Given the description of an element on the screen output the (x, y) to click on. 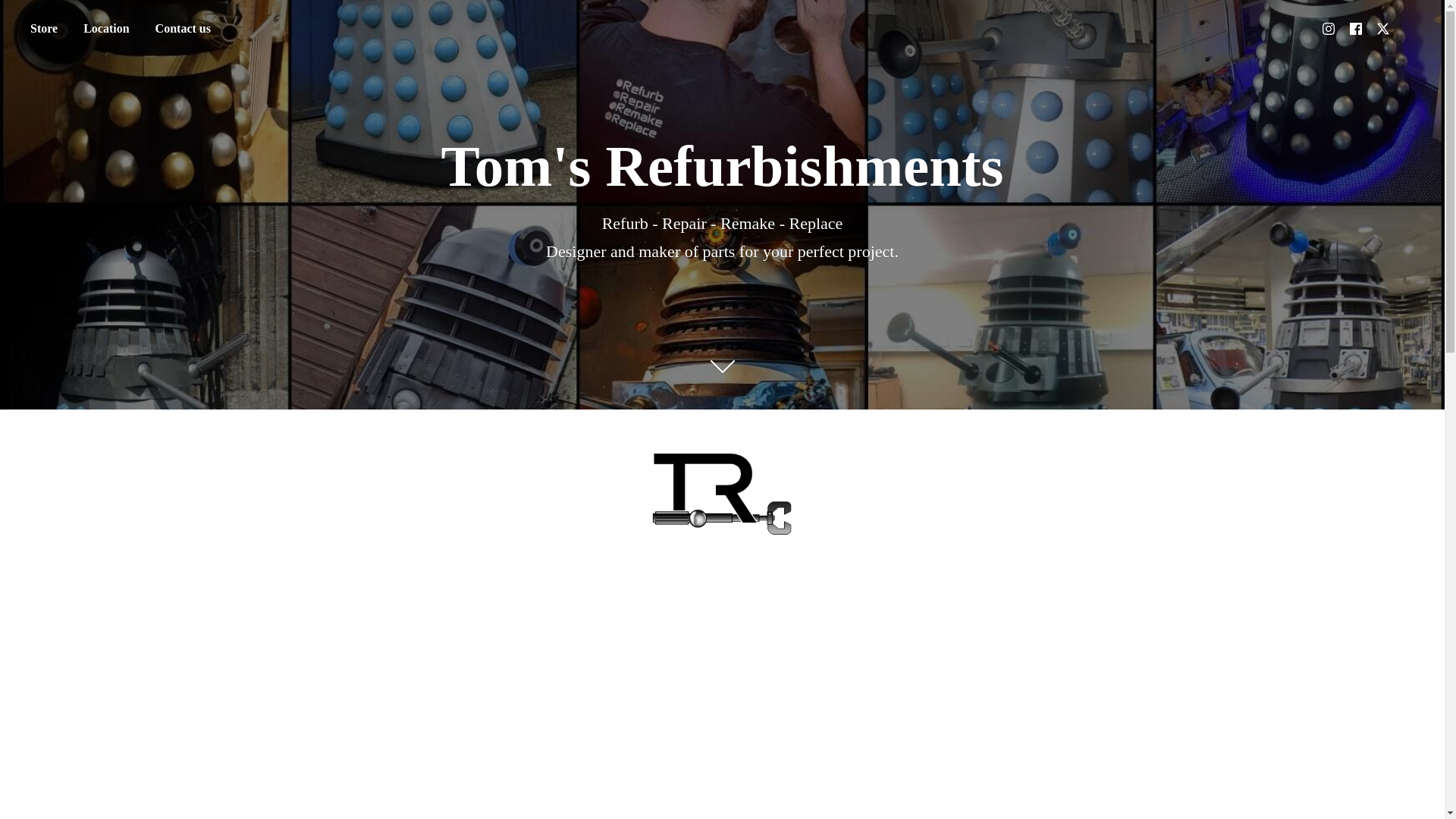
Location (105, 29)
Store (43, 29)
Contact us (183, 29)
